Given the description of an element on the screen output the (x, y) to click on. 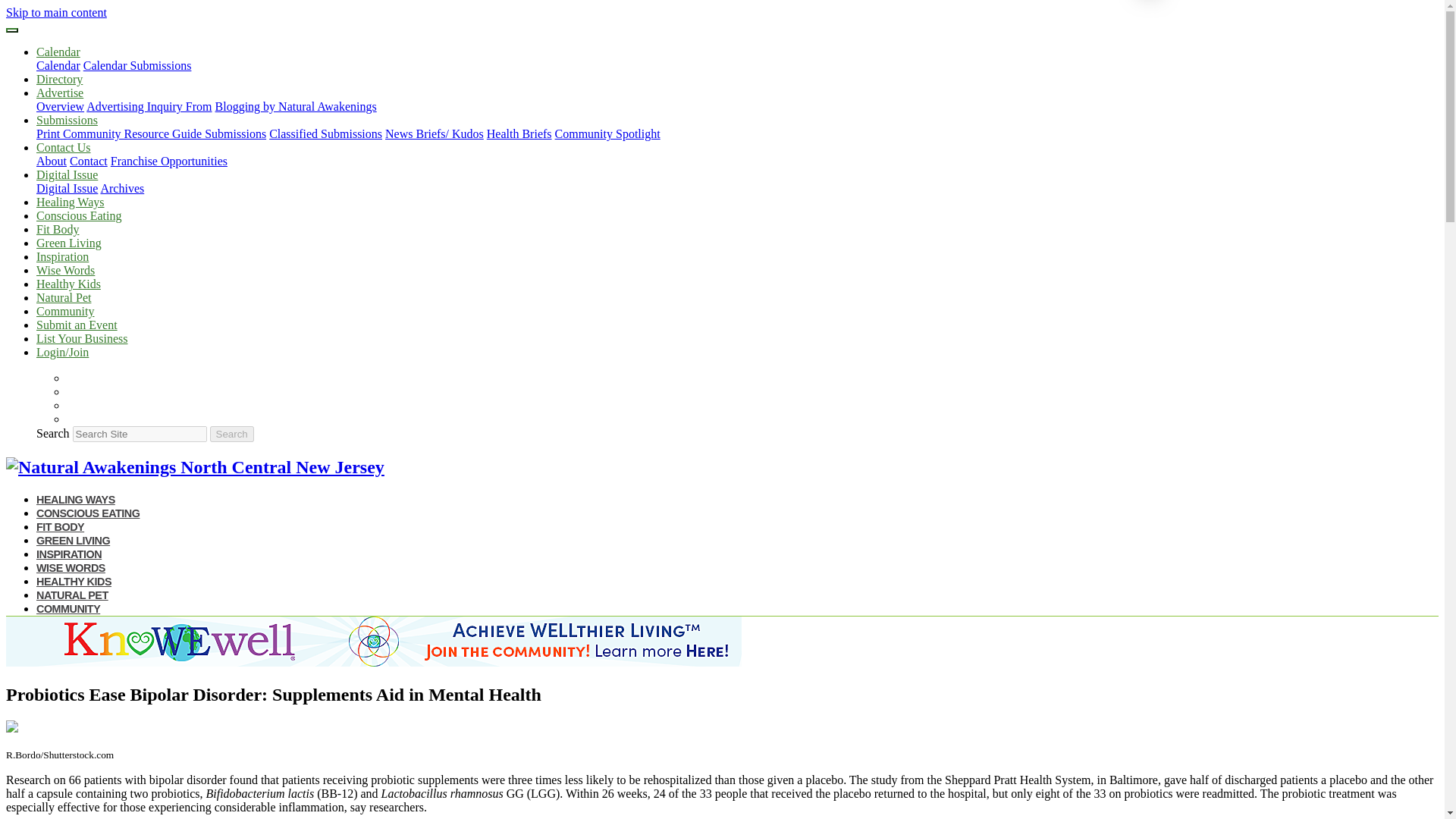
About (51, 160)
Natural Pet (63, 297)
Classified Submissions (325, 133)
Inspiration (62, 256)
Calendar (58, 65)
Wise Words (65, 269)
Conscious Eating (78, 215)
Community (65, 310)
Calendar (58, 51)
Digital Issue (66, 174)
